Given the description of an element on the screen output the (x, y) to click on. 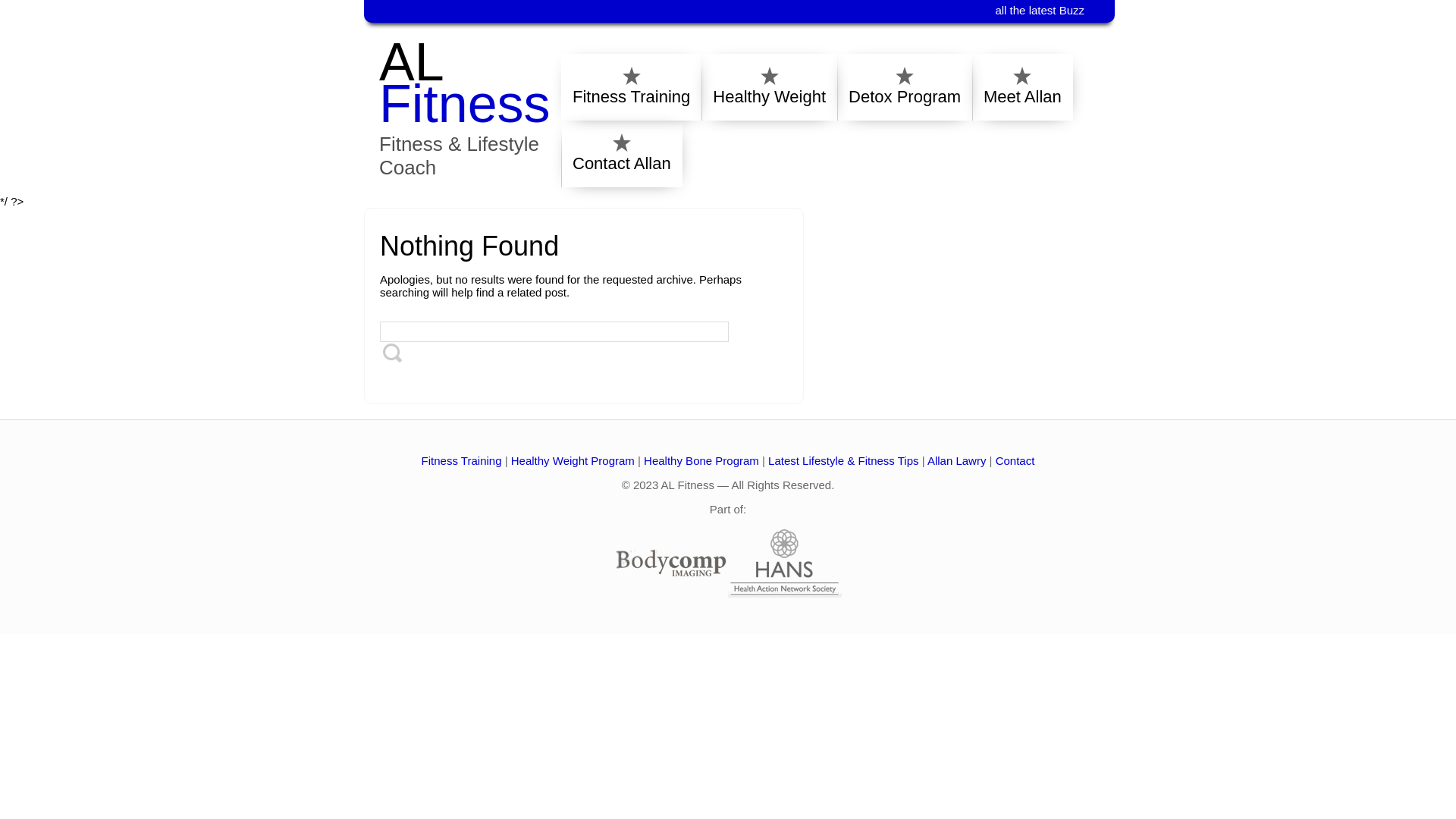
Fitness Training Element type: text (631, 88)
Contact Element type: text (1015, 460)
Healthy Weight Element type: text (769, 88)
Contact Allan Element type: text (621, 155)
Body Comp Imaging Element type: hover (671, 592)
Allan Lawry Element type: text (956, 460)
AL Fitness Element type: text (464, 82)
Fitness Training Element type: text (461, 460)
all the latest Buzz Element type: text (1046, 9)
Health Action Network Element type: hover (784, 592)
Detox Program Element type: text (904, 88)
Healthy Weight Program Element type: text (572, 460)
Meet Allan Element type: text (1022, 88)
Healthy Bone Program Element type: text (701, 460)
Latest Lifestyle & Fitness Tips Element type: text (843, 460)
